Given the description of an element on the screen output the (x, y) to click on. 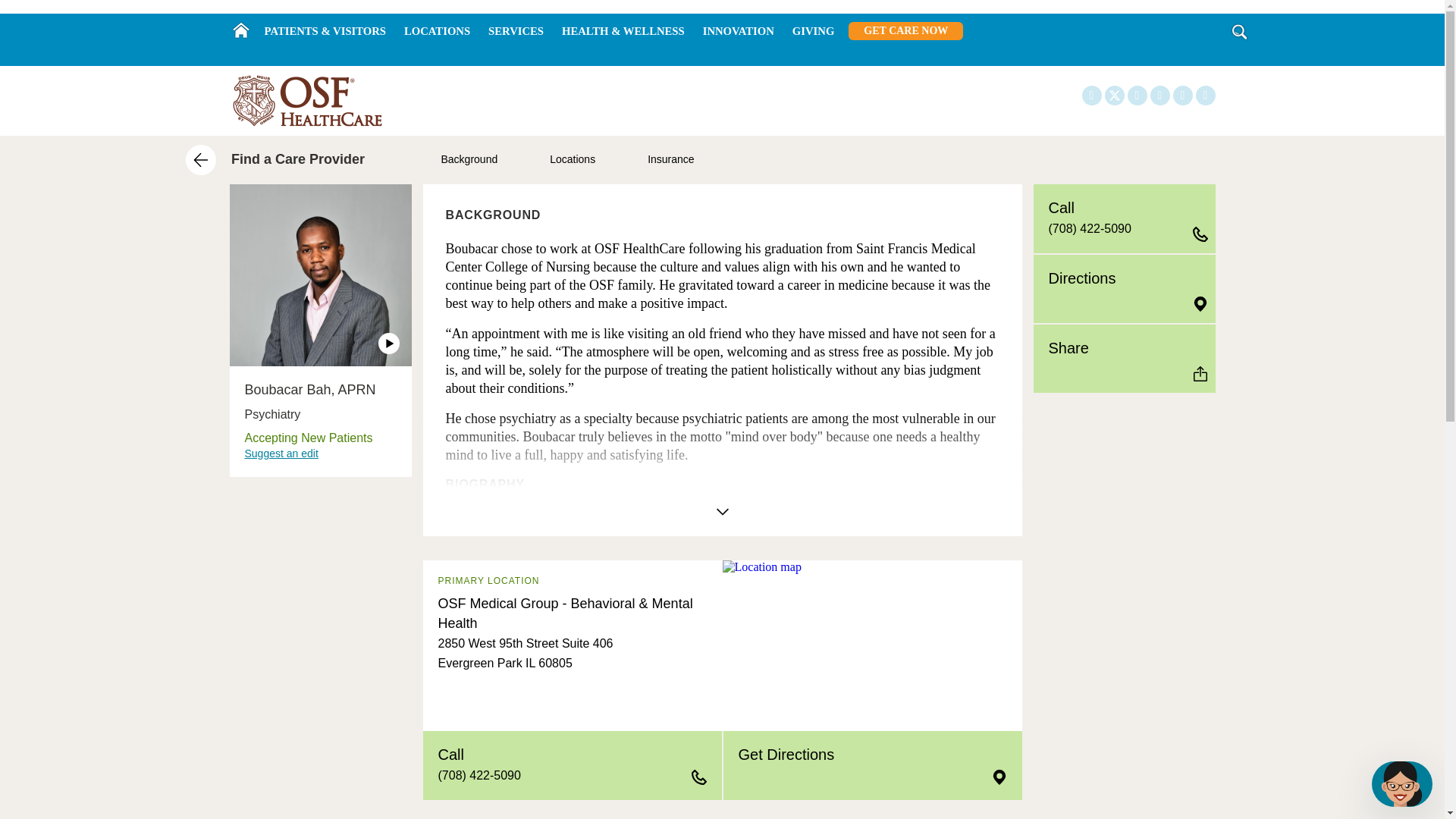
Search (1238, 31)
SERVICES (516, 31)
LOCATIONS (436, 31)
HOME (239, 30)
